Given the description of an element on the screen output the (x, y) to click on. 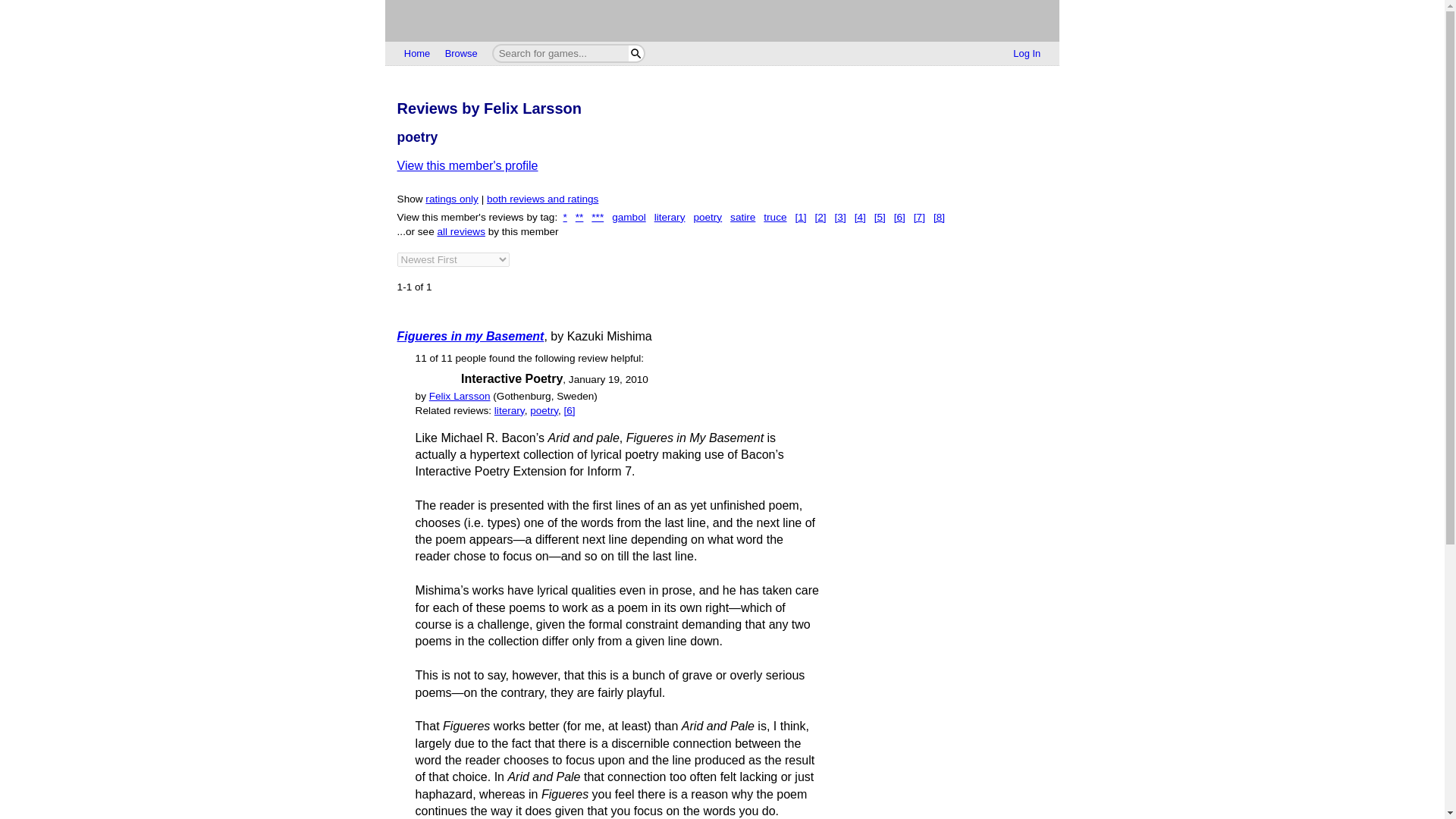
poetry (543, 410)
Browse (461, 53)
ratings only (452, 198)
poetry (707, 216)
all reviews (460, 231)
3 Stars (436, 379)
satire (742, 216)
Felix Larsson (459, 396)
Log In (1027, 53)
literary (669, 216)
